Given the description of an element on the screen output the (x, y) to click on. 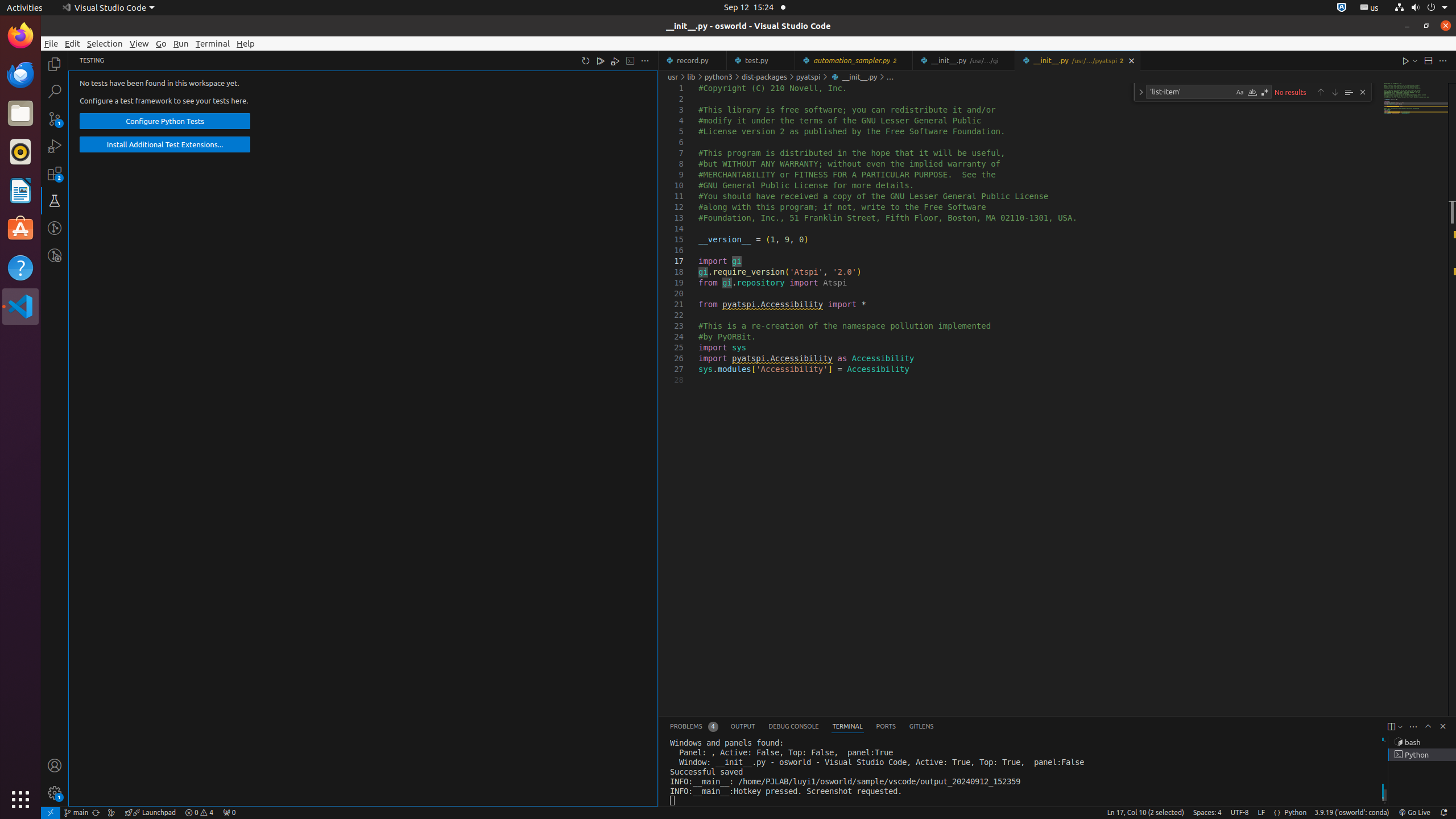
Match Case (Alt+C) Element type: check-box (1239, 91)
Run Python File Element type: push-button (1405, 60)
rocket gitlens-unplug Launchpad, GitLens Launchpad ᴘʀᴇᴠɪᴇᴡ    &mdash;    [$(question)](command:gitlens.launchpad.indicator.action?%22info%22 "What is this?") [$(gear)](command:workbench.action.openSettings?%22gitlens.launchpad%22 "Settings")  |  [$(circle-slash) Hide](command:gitlens.launchpad.indicator.action?%22hide%22 "Hide") --- [Launchpad](command:gitlens.launchpad.indicator.action?%info%22 "Learn about Launchpad") organizes your pull requests into actionable groups to help you focus and keep your team unblocked. It's always accessible using the `GitLens: Open Launchpad` command from the Command Palette. --- [Connect an integration](command:gitlens.showLaunchpad?%7B%22source%22%3A%22launchpad-indicator%22%7D "Connect an integration") to get started. Element type: push-button (150, 812)
Accounts Element type: push-button (54, 765)
